Given the description of an element on the screen output the (x, y) to click on. 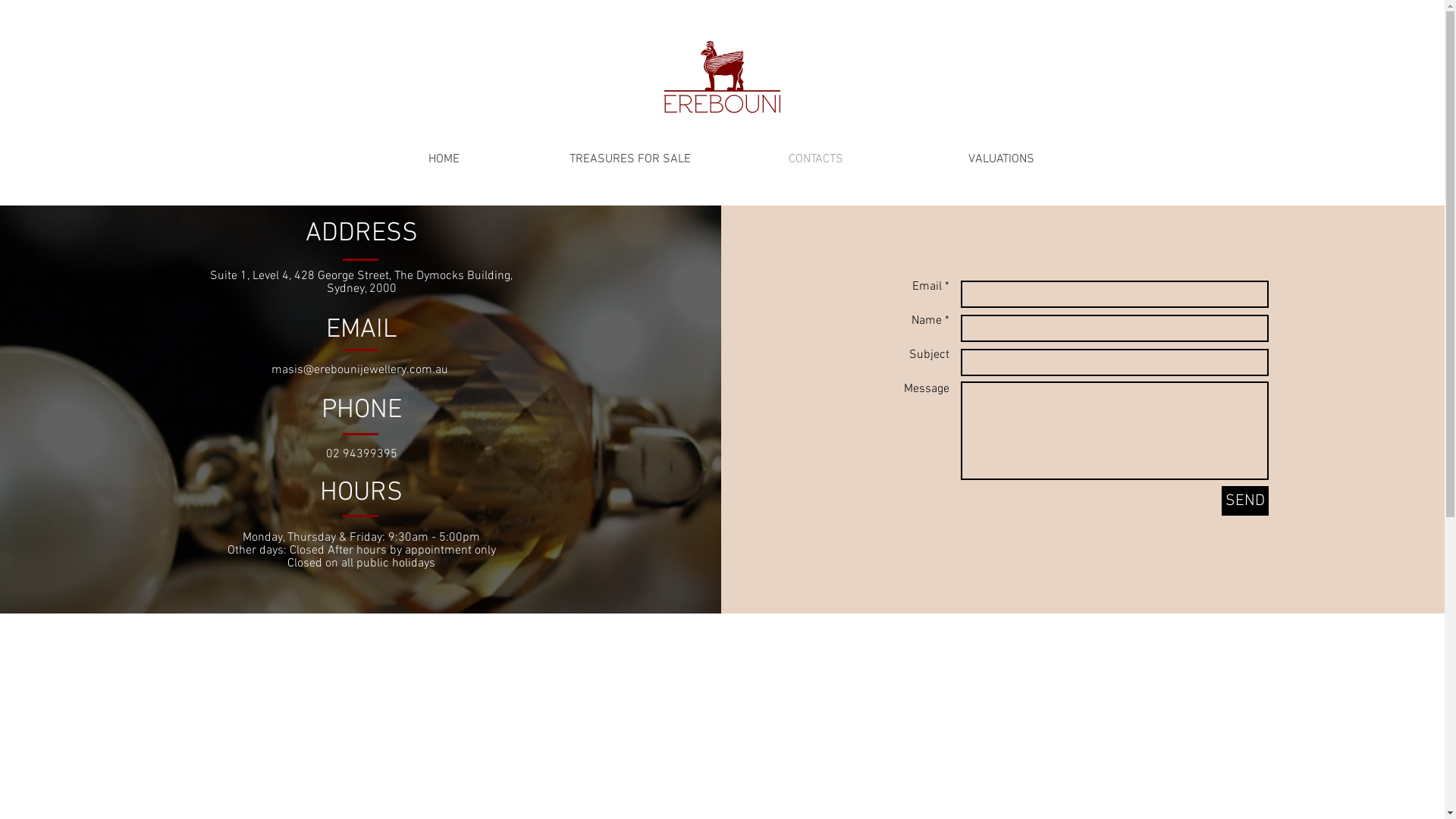
VALUATIONS Element type: text (1000, 159)
CONTACTS Element type: text (815, 159)
masis@erebounijewellery.com.au Element type: text (359, 369)
SEND Element type: text (1244, 500)
TREASURES FOR SALE Element type: text (628, 159)
HOME Element type: text (443, 159)
